Given the description of an element on the screen output the (x, y) to click on. 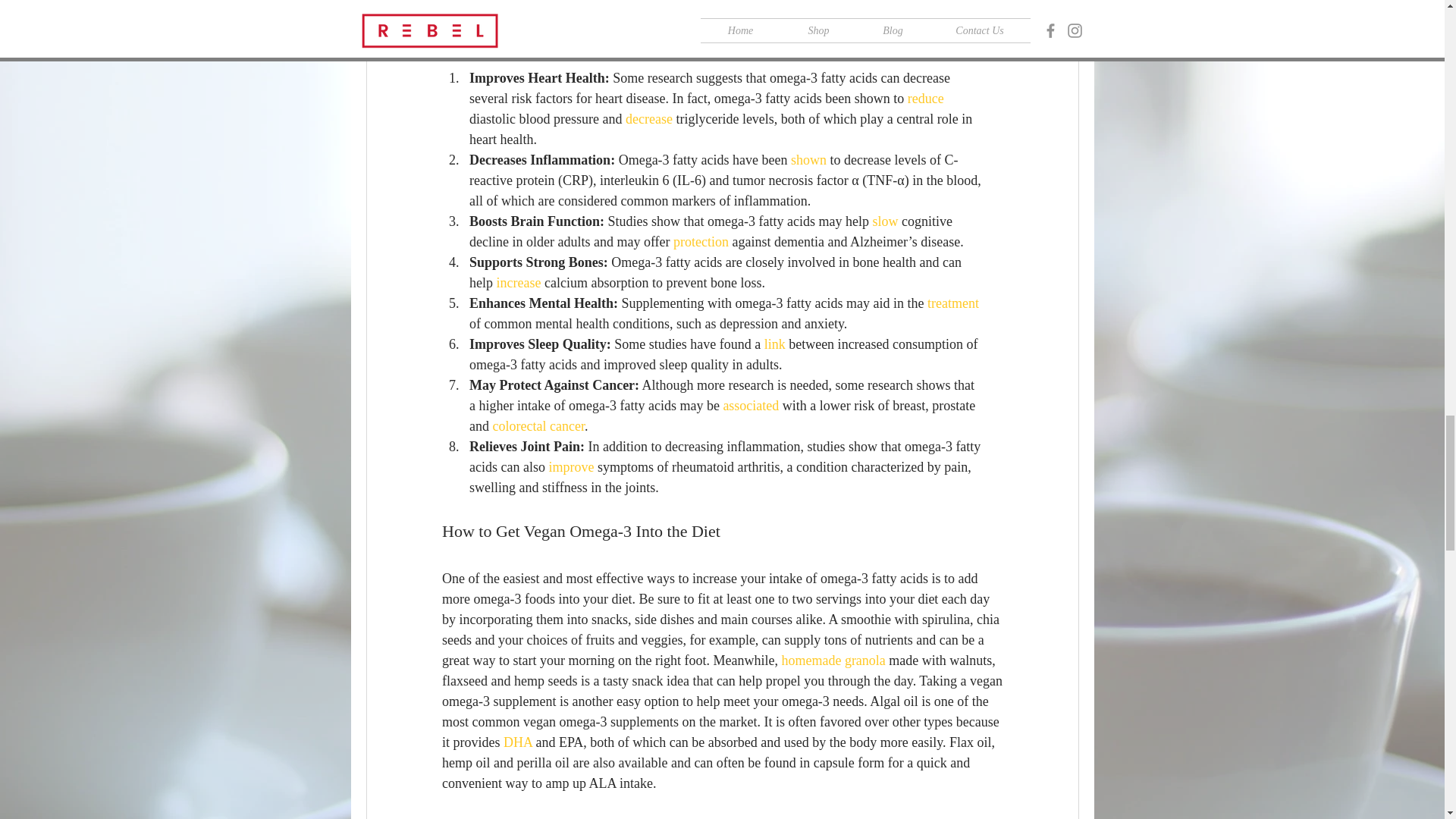
decrease (647, 118)
reduce (925, 98)
